Given the description of an element on the screen output the (x, y) to click on. 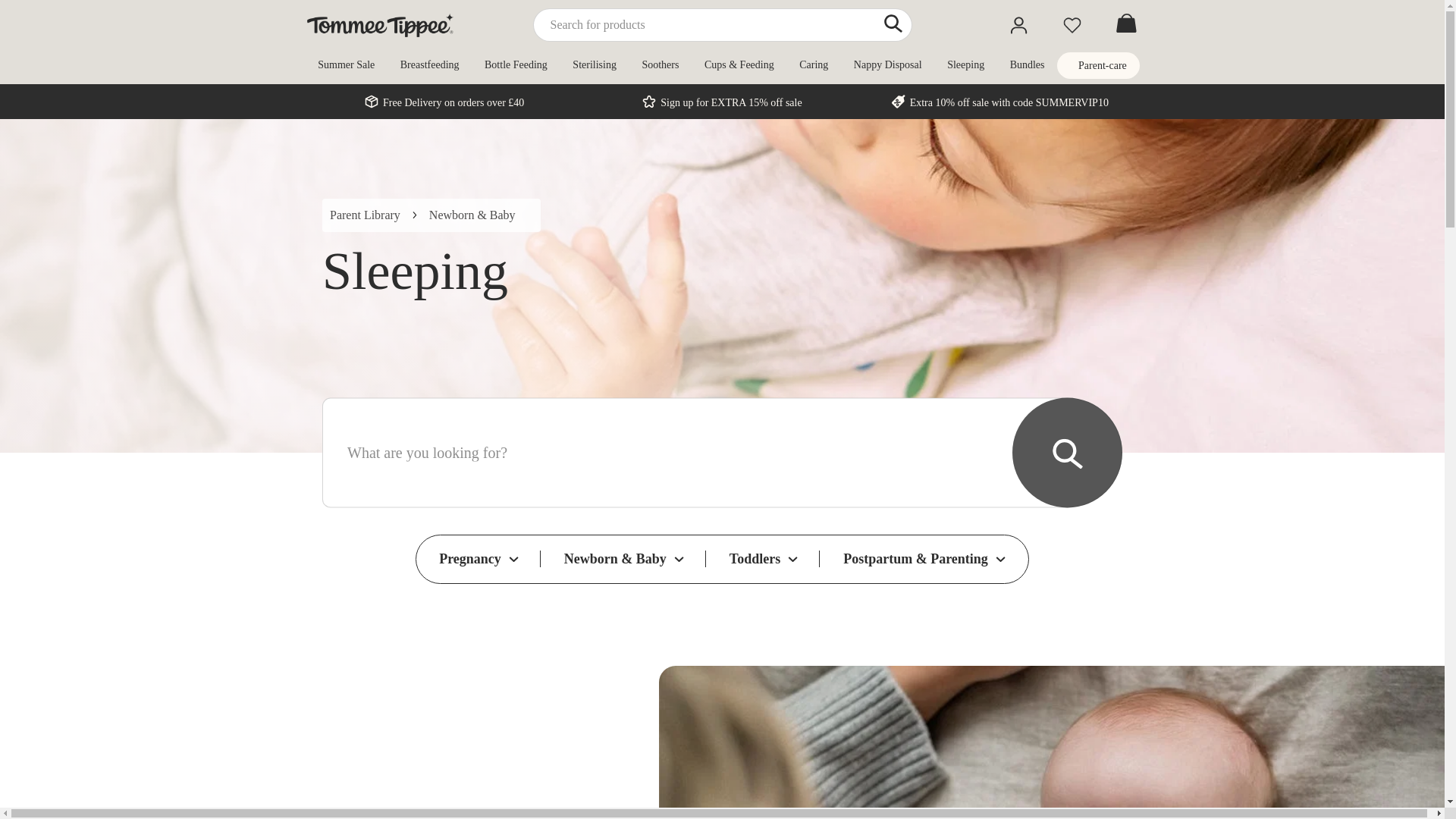
Sign In (1018, 25)
View Your Wish List (1071, 25)
Sign in to my account (1018, 25)
Basket (1126, 24)
View Your Wish List (1071, 25)
Search (892, 23)
Tommee Tippee (378, 24)
Summer Sale (345, 64)
Search (892, 23)
